Given the description of an element on the screen output the (x, y) to click on. 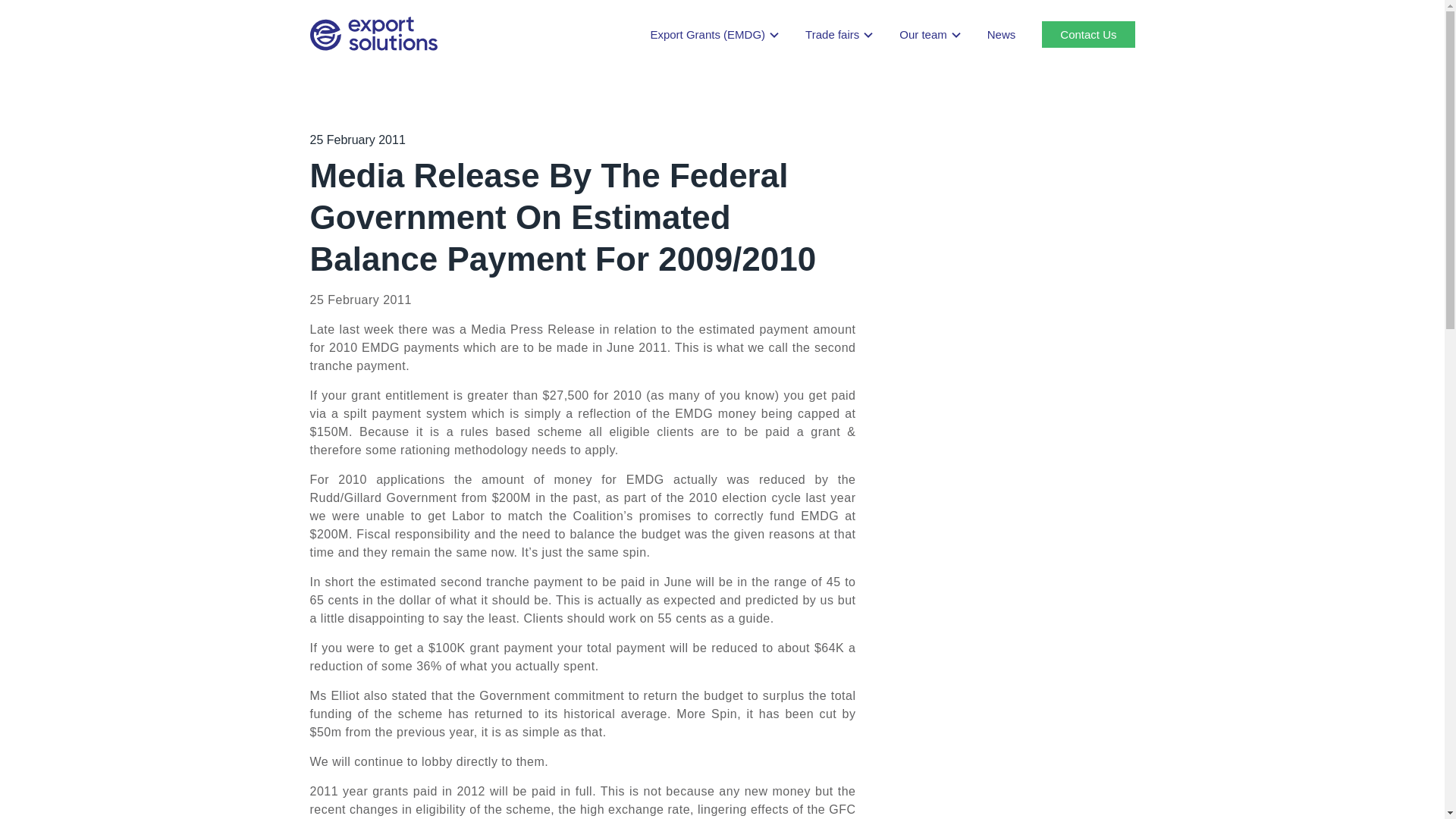
Trade fairs (838, 33)
Contact Us (1088, 34)
News (1001, 33)
Our team (929, 33)
